Given the description of an element on the screen output the (x, y) to click on. 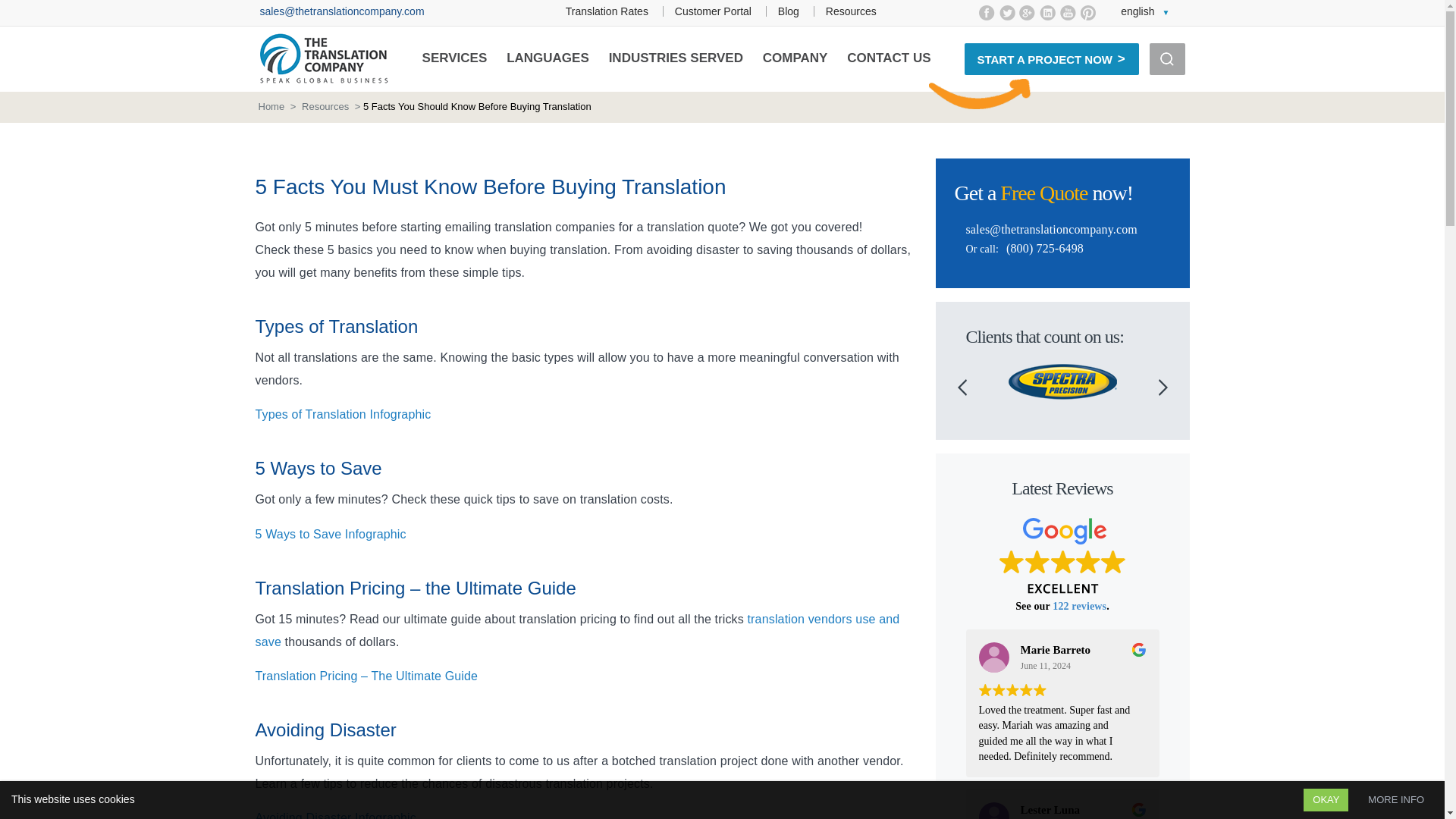
tweeter (1006, 12)
LANGUAGES (547, 57)
SERVICES (454, 57)
Professional Translators (606, 10)
Resources (850, 10)
Translation News (788, 10)
INDUSTRIES SERVED (675, 57)
Choose your preferred language (1145, 11)
Google Plus (1027, 12)
Pinterest (1088, 12)
english (1145, 11)
Blog (788, 10)
Translation Services (454, 57)
Translation Resources (850, 10)
Customer Portal (713, 10)
